Given the description of an element on the screen output the (x, y) to click on. 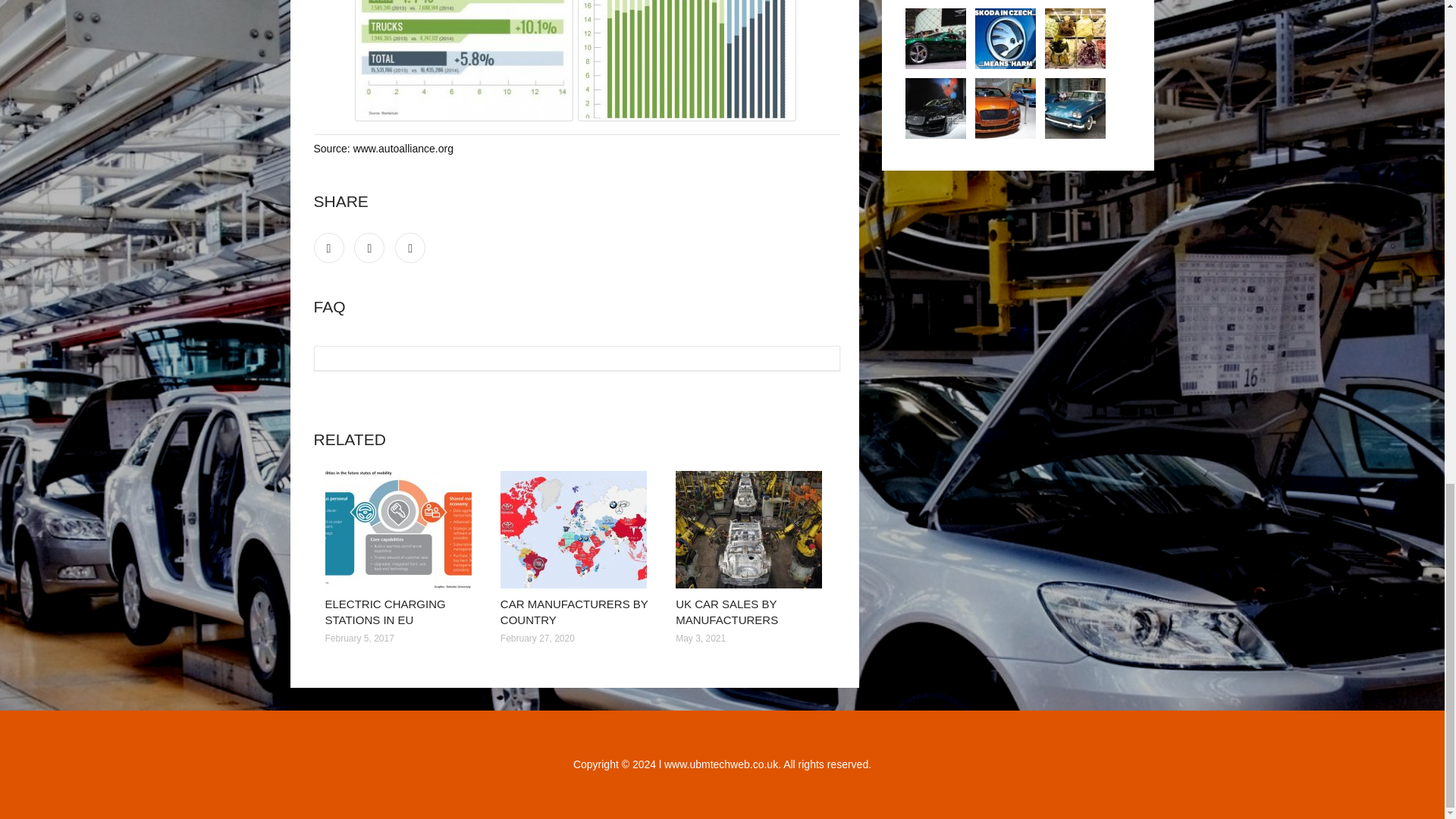
Car manufacturers in Europe (1005, 107)
Car manufacturers name (1005, 38)
Electric charging stations in EU (400, 529)
UK CAR SALES BY MANUFACTURERS (726, 611)
Car manufacturers in Detroit (1075, 107)
Car manufacturers by Country (576, 529)
UK car sales by manufacturers (751, 529)
Car manufacturers with o (935, 107)
CAR MANUFACTURERS BY COUNTRY (573, 611)
Car sales by manufacturers Worldwide (935, 38)
Car manufacturers in Italy (1075, 38)
ELECTRIC CHARGING STATIONS IN EU (384, 611)
